Given the description of an element on the screen output the (x, y) to click on. 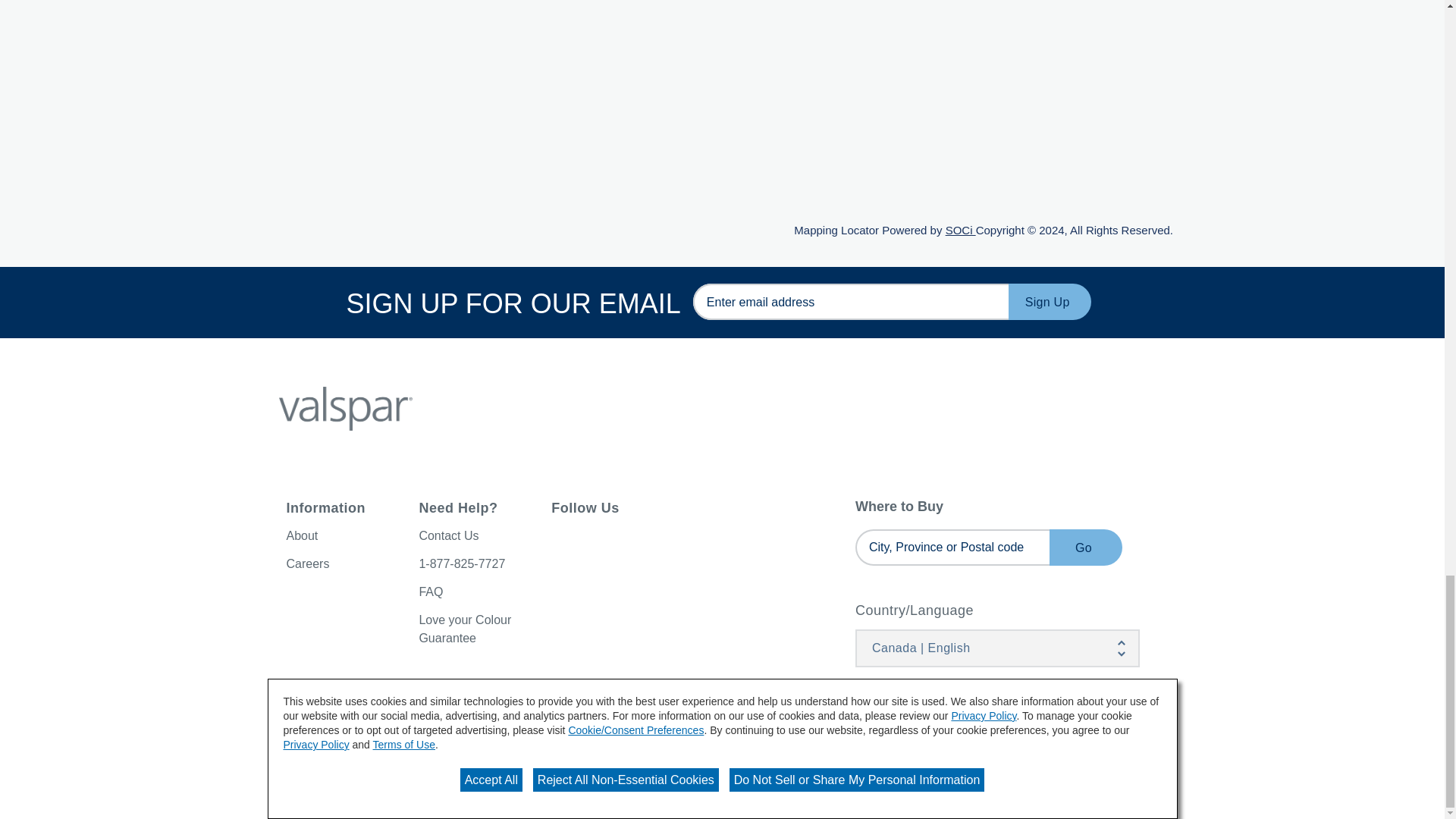
Sign Up (1049, 301)
About (302, 535)
Careers (308, 563)
Valspar Brand Logo (345, 408)
SIGN UP FOR OUR EMAIL (851, 301)
